Given the description of an element on the screen output the (x, y) to click on. 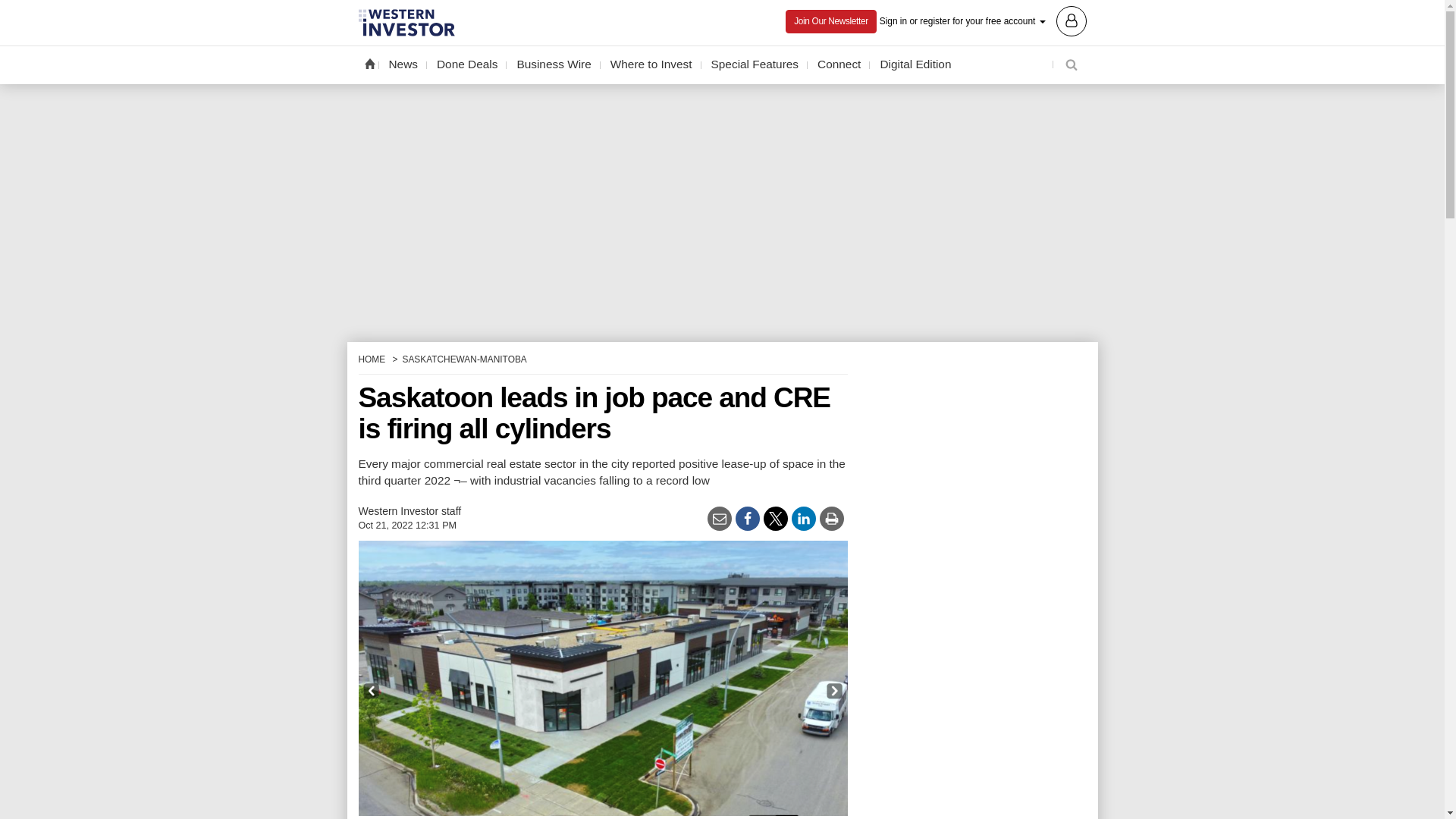
Join Our Newsletter (831, 20)
Where to Invest (651, 64)
SASKATCHEWAN-MANITOBA (463, 358)
HOME (371, 358)
Home (368, 63)
Done Deals (466, 64)
Sign in or register for your free account (982, 20)
Digital Edition (915, 64)
Business Wire (552, 64)
Special Features (755, 64)
